Given the description of an element on the screen output the (x, y) to click on. 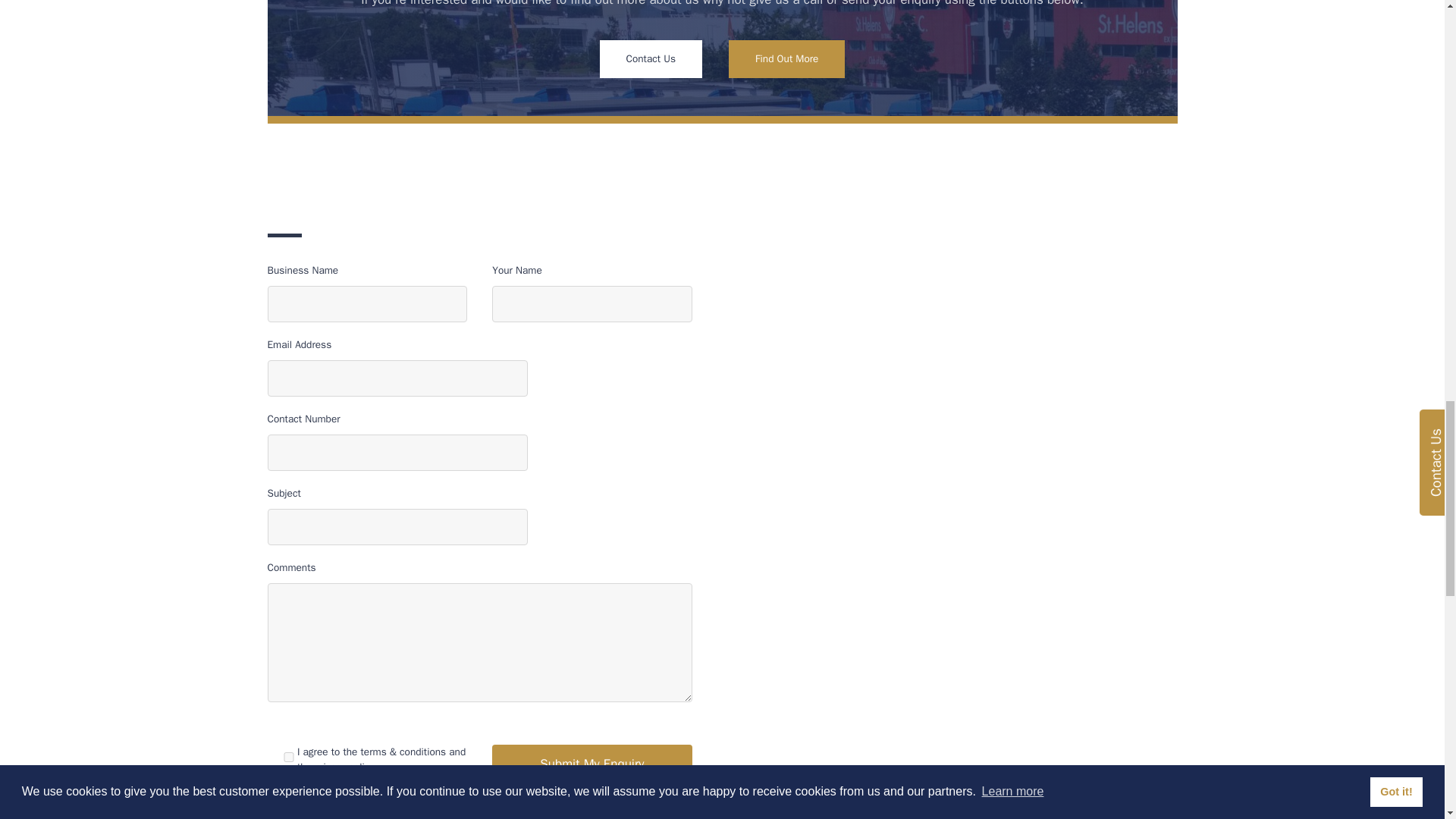
Submit My Enquiry (591, 763)
